Given the description of an element on the screen output the (x, y) to click on. 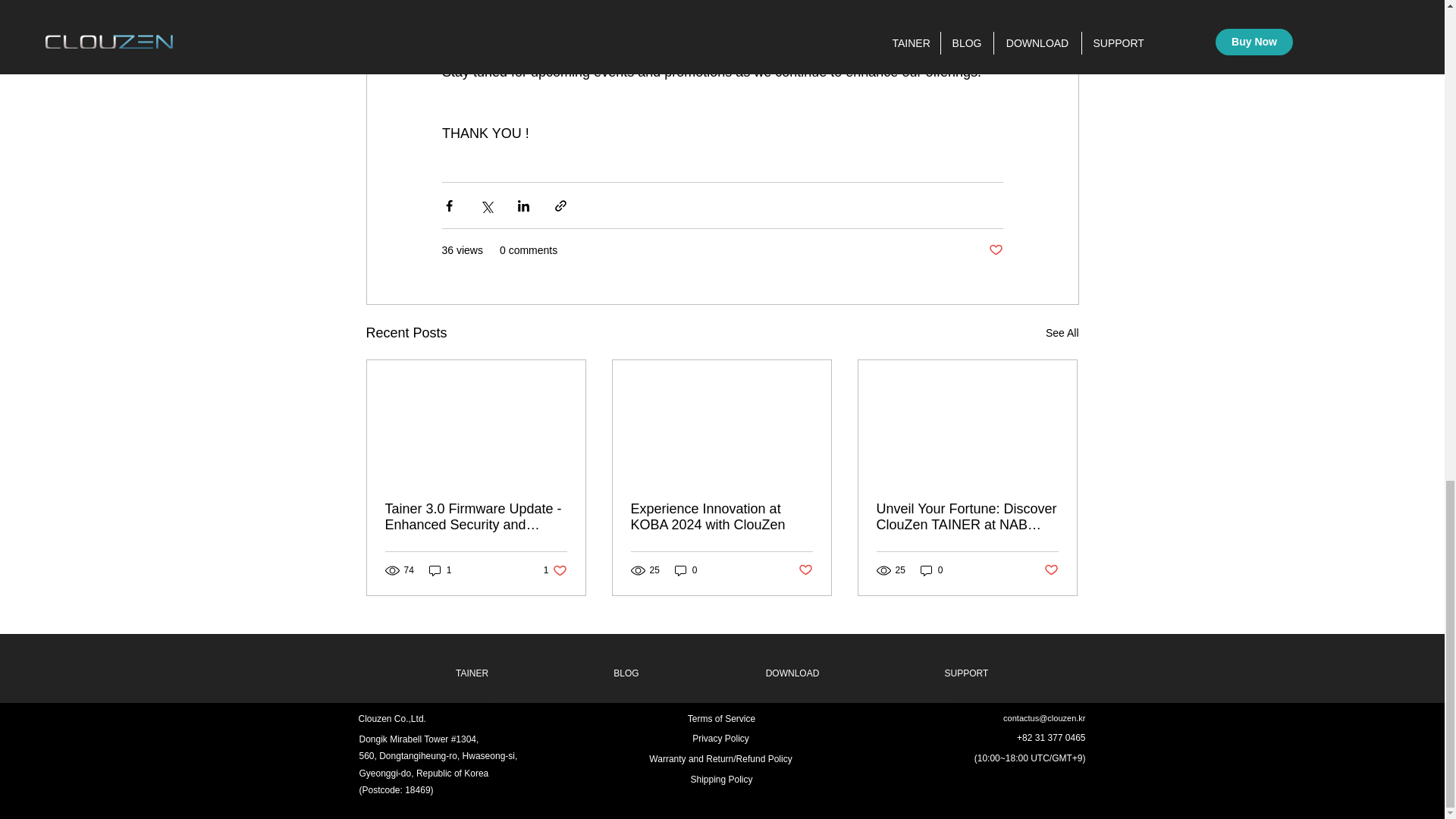
See All (1061, 332)
Gyeonggi-do, Republic of Korea (424, 773)
Post not marked as liked (1050, 570)
DOWNLOAD (555, 570)
0 (791, 673)
Experience Innovation at KOBA 2024 with ClouZen (685, 570)
1 (721, 517)
Clouzen Co.,Ltd. (440, 570)
560, Dongtangiheung-ro, Hwaseong-si, (391, 718)
BLOG (438, 756)
Post not marked as liked (625, 673)
Post not marked as liked (804, 570)
TAINER (995, 250)
